Given the description of an element on the screen output the (x, y) to click on. 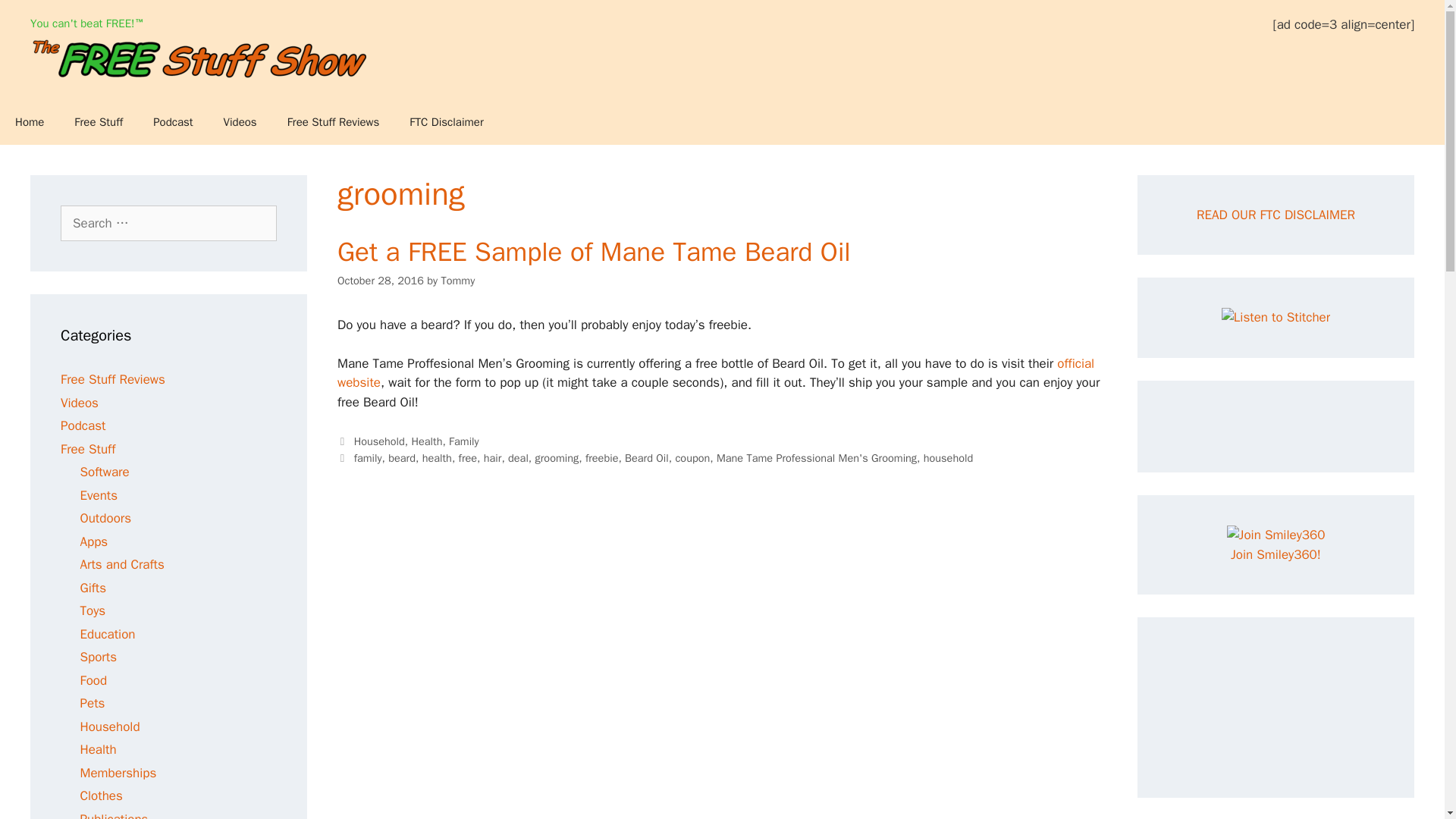
Family (463, 440)
coupon (692, 458)
Videos (80, 401)
Health (426, 440)
free (467, 458)
Free Stuff (98, 121)
family (367, 458)
Get a FREE Sample of Mane Tame Beard Oil (593, 251)
View all posts by Tommy (457, 280)
grooming (557, 458)
Free Stuff Reviews (113, 379)
Videos (240, 121)
Mane Tame Professional Men's Grooming (816, 458)
Podcast (82, 425)
FTC Disclaimer (445, 121)
